Given the description of an element on the screen output the (x, y) to click on. 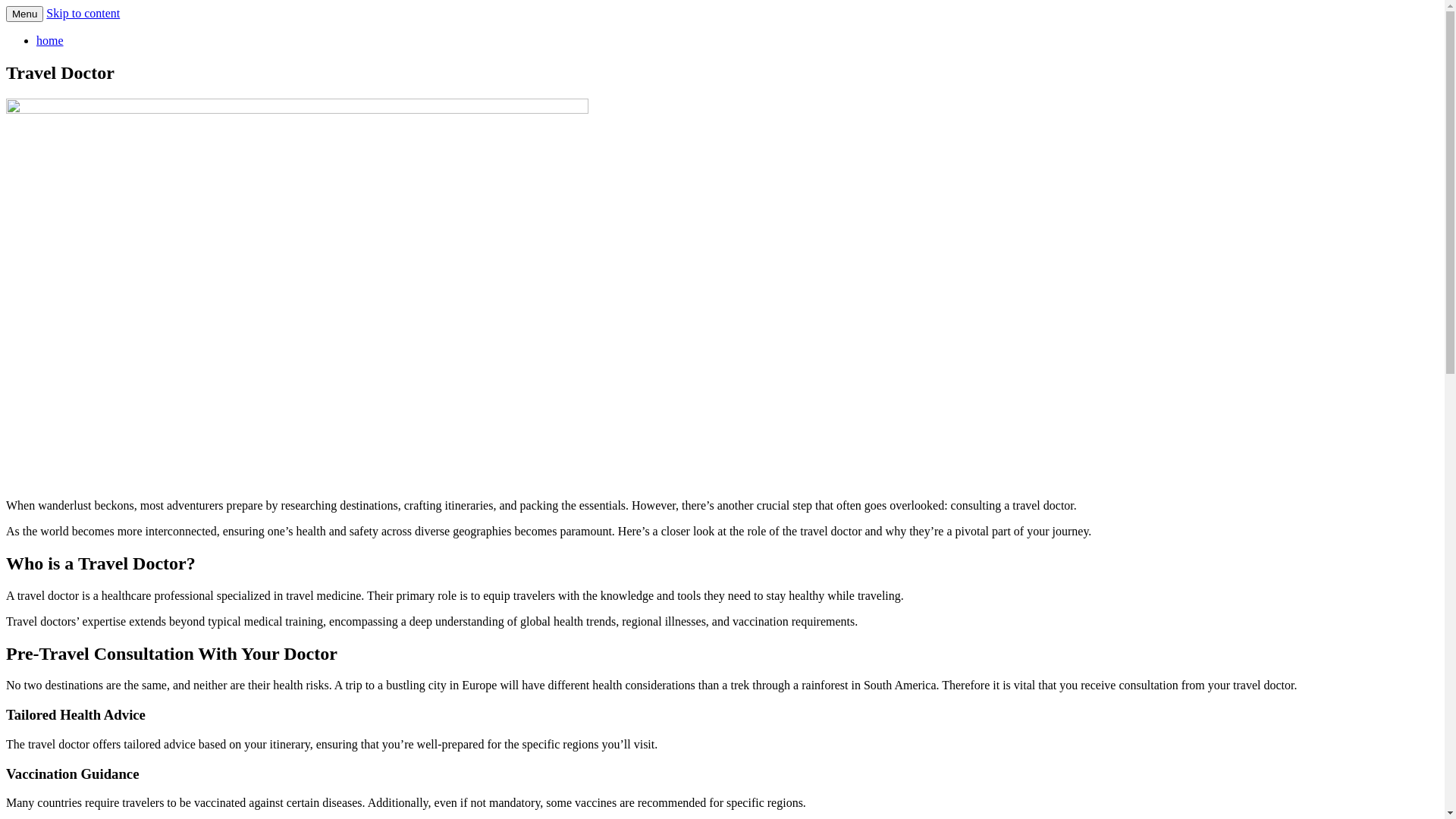
Travel Doctor Element type: text (78, 35)
Menu Element type: text (24, 13)
Skip to content Element type: text (82, 12)
home Element type: text (49, 40)
